Given the description of an element on the screen output the (x, y) to click on. 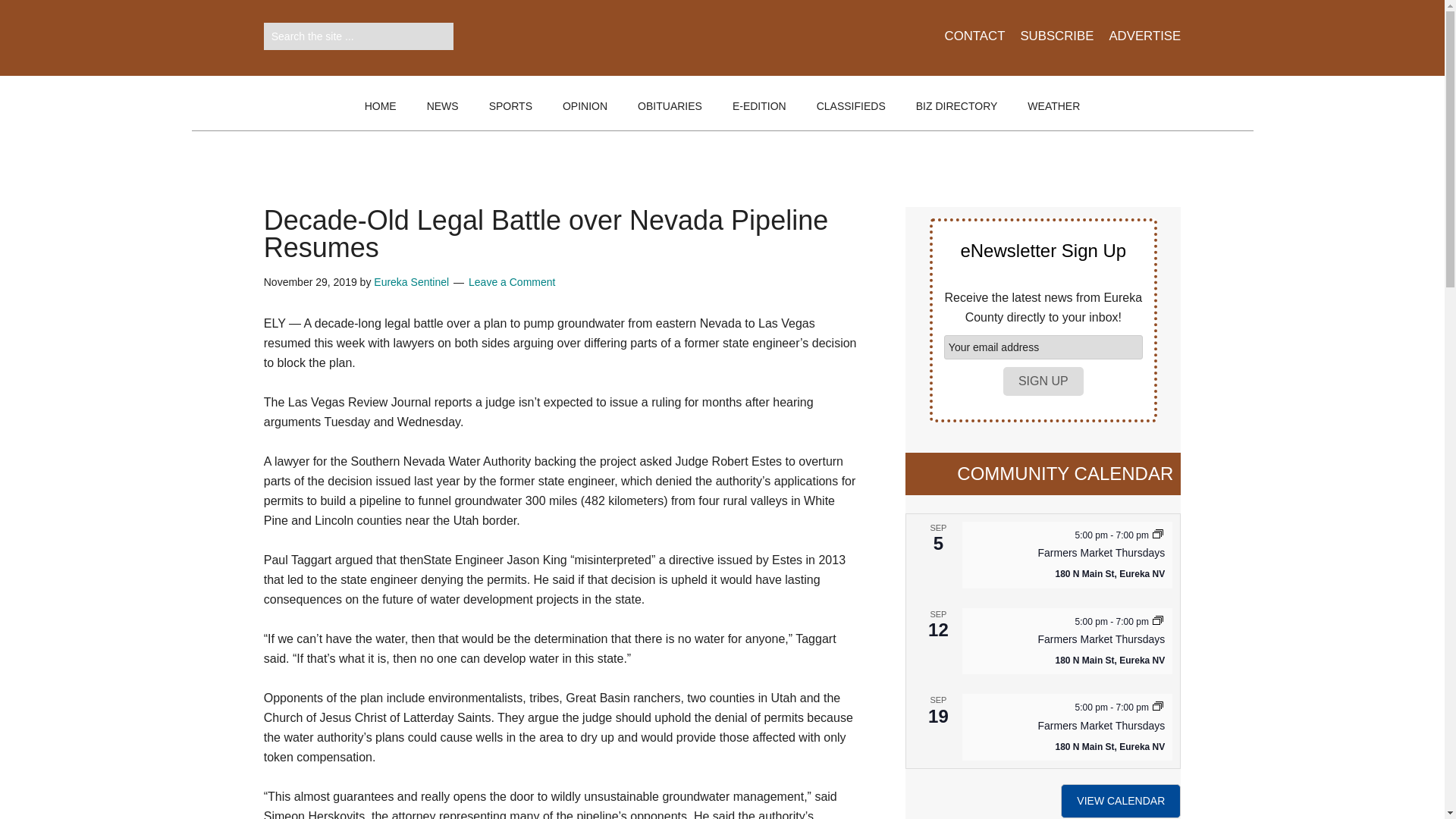
180 N Main St, Eureka NV (1110, 573)
HOME (380, 105)
Event Series (1158, 534)
OPINION (585, 105)
180 N Main St, Eureka NV (1110, 660)
Event Series (1158, 619)
Event Series (1158, 534)
SUBSCRIBE (1048, 46)
Event Series (1158, 621)
